Given the description of an element on the screen output the (x, y) to click on. 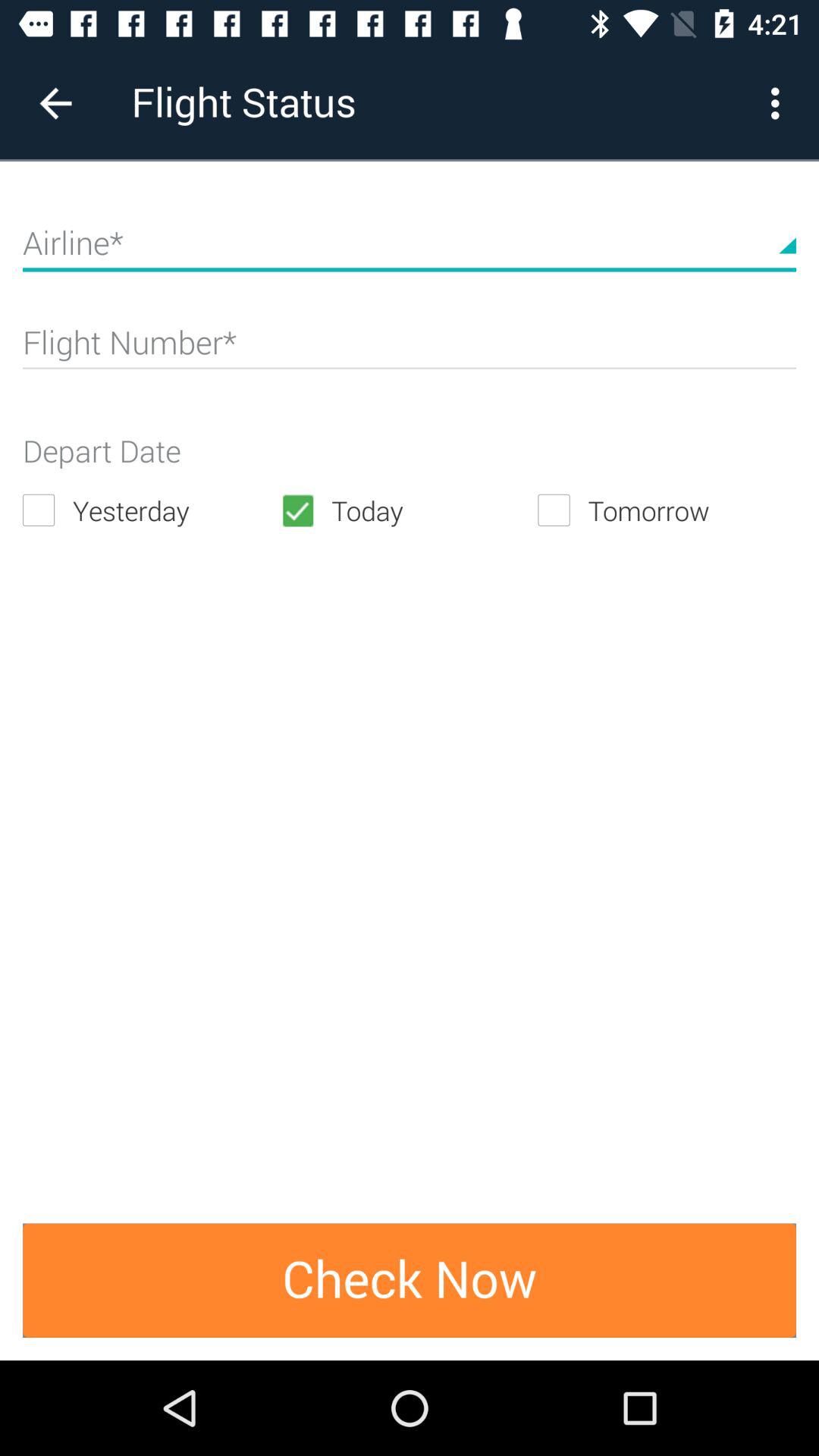
open the icon on the left (151, 510)
